Given the description of an element on the screen output the (x, y) to click on. 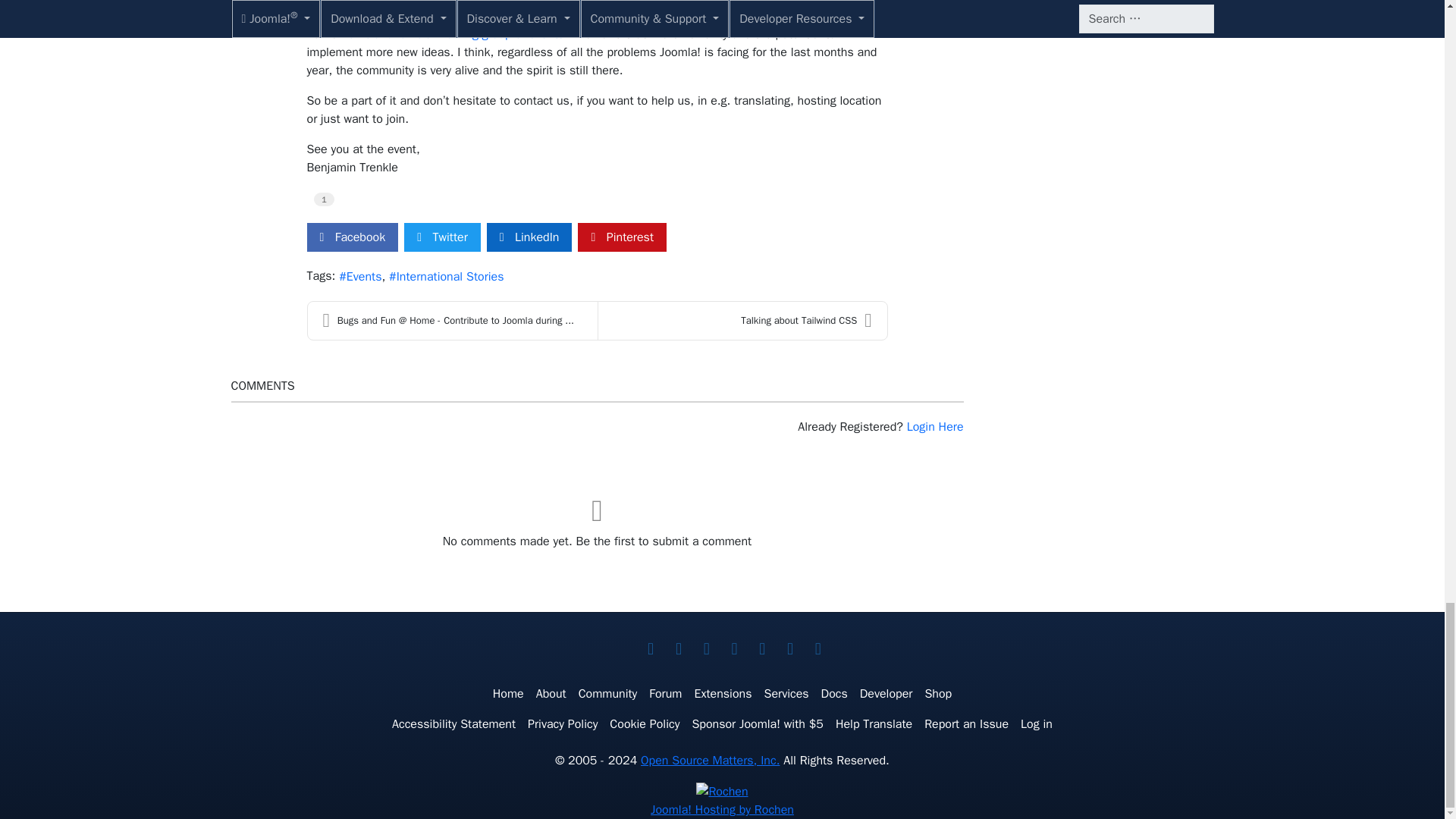
Joomla! on LinkedIn (733, 648)
1 vote (324, 199)
Joomla! on Pinterest (761, 648)
Joomla! on YouTube (706, 648)
Joomla! on Twitter (650, 648)
Joomla! on Facebook (678, 648)
Joomla! on Instagram (789, 648)
